Given the description of an element on the screen output the (x, y) to click on. 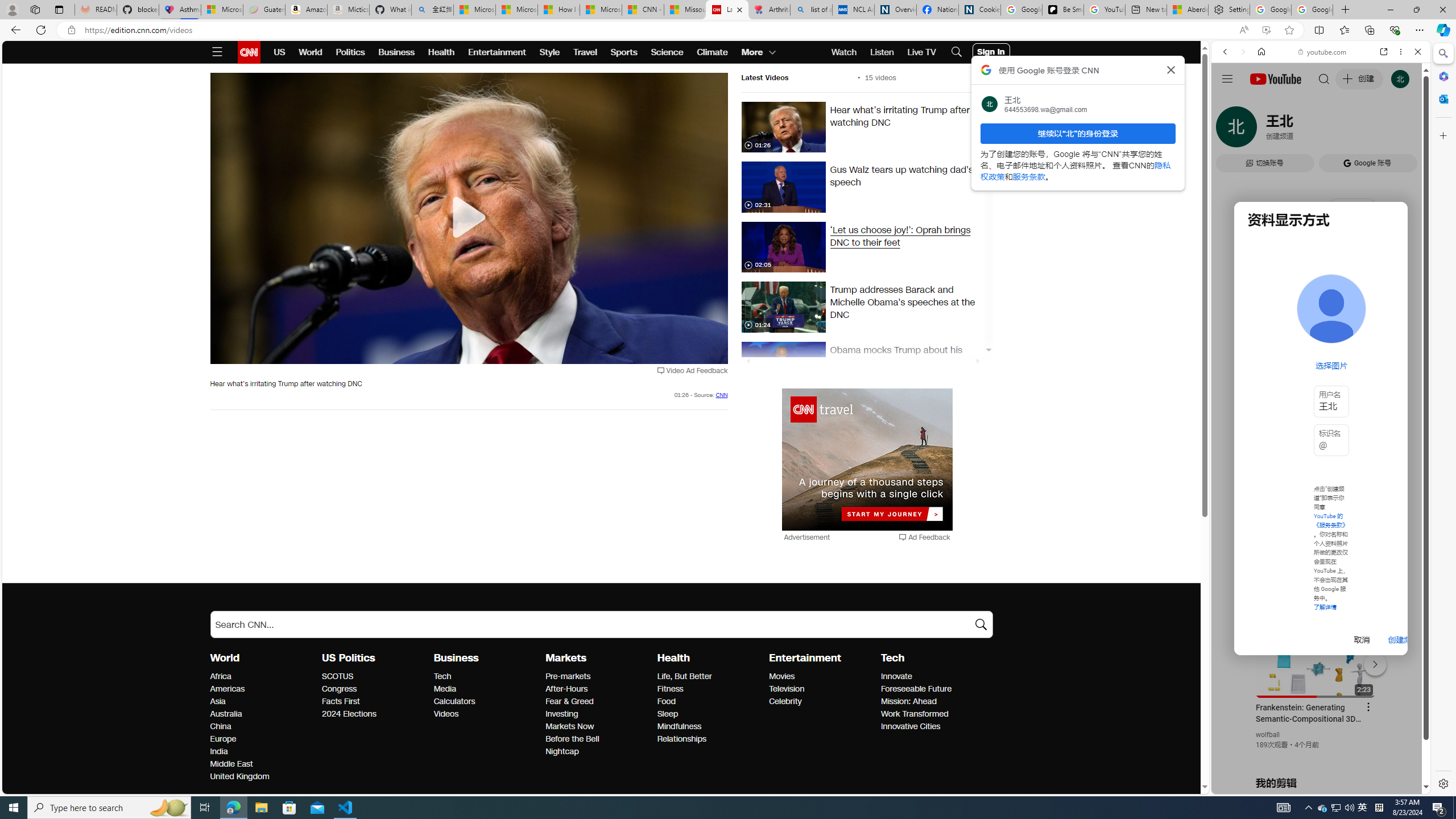
Aberdeen, Hong Kong SAR hourly forecast | Microsoft Weather (1186, 9)
Tech Mission: Ahead (908, 701)
Show More Music (1390, 310)
